Given the description of an element on the screen output the (x, y) to click on. 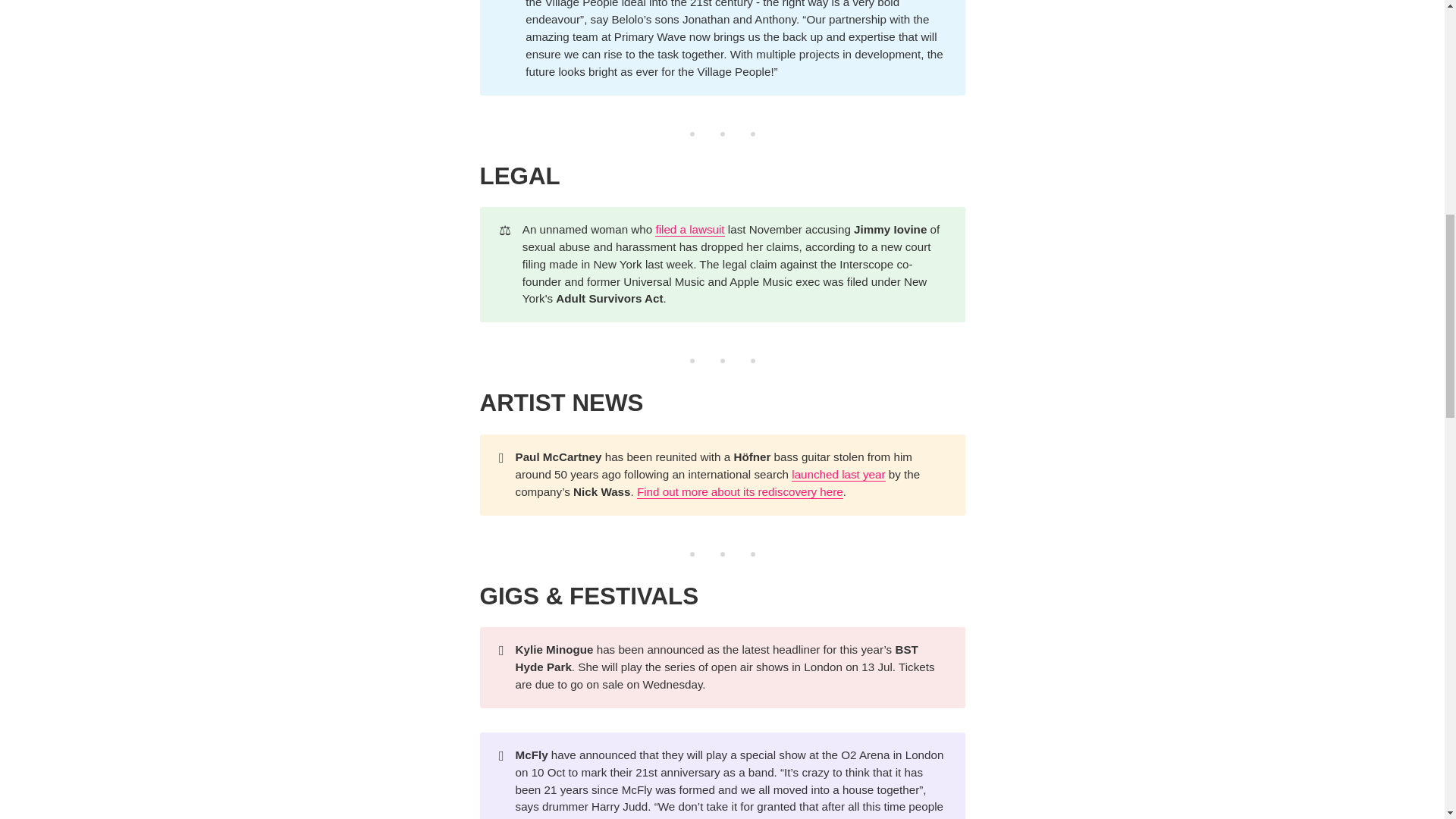
launched last year (838, 474)
filed a lawsuit (689, 229)
Find out more about its rediscovery here (740, 491)
